Given the description of an element on the screen output the (x, y) to click on. 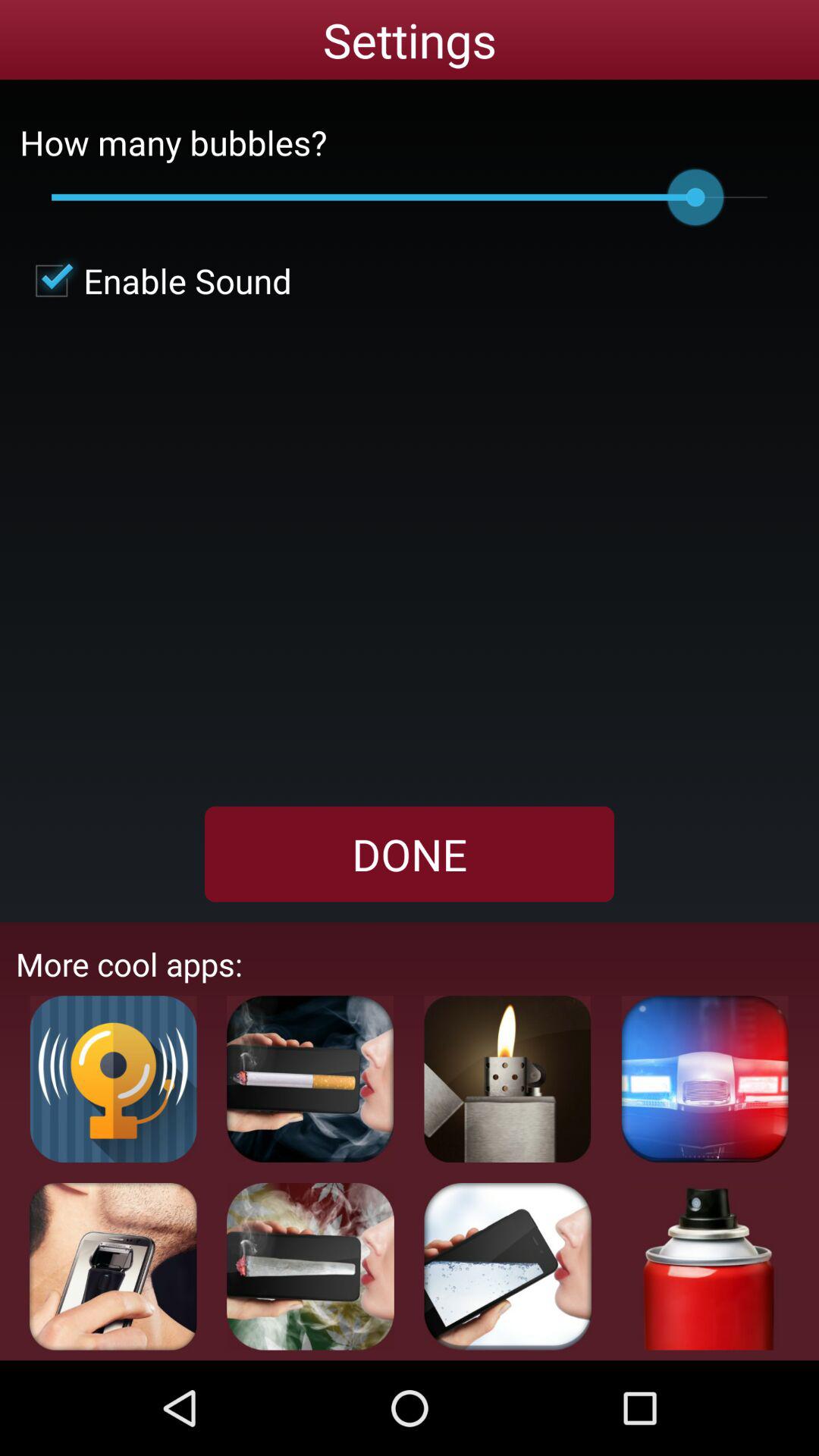
tap enable sound icon (155, 280)
